Given the description of an element on the screen output the (x, y) to click on. 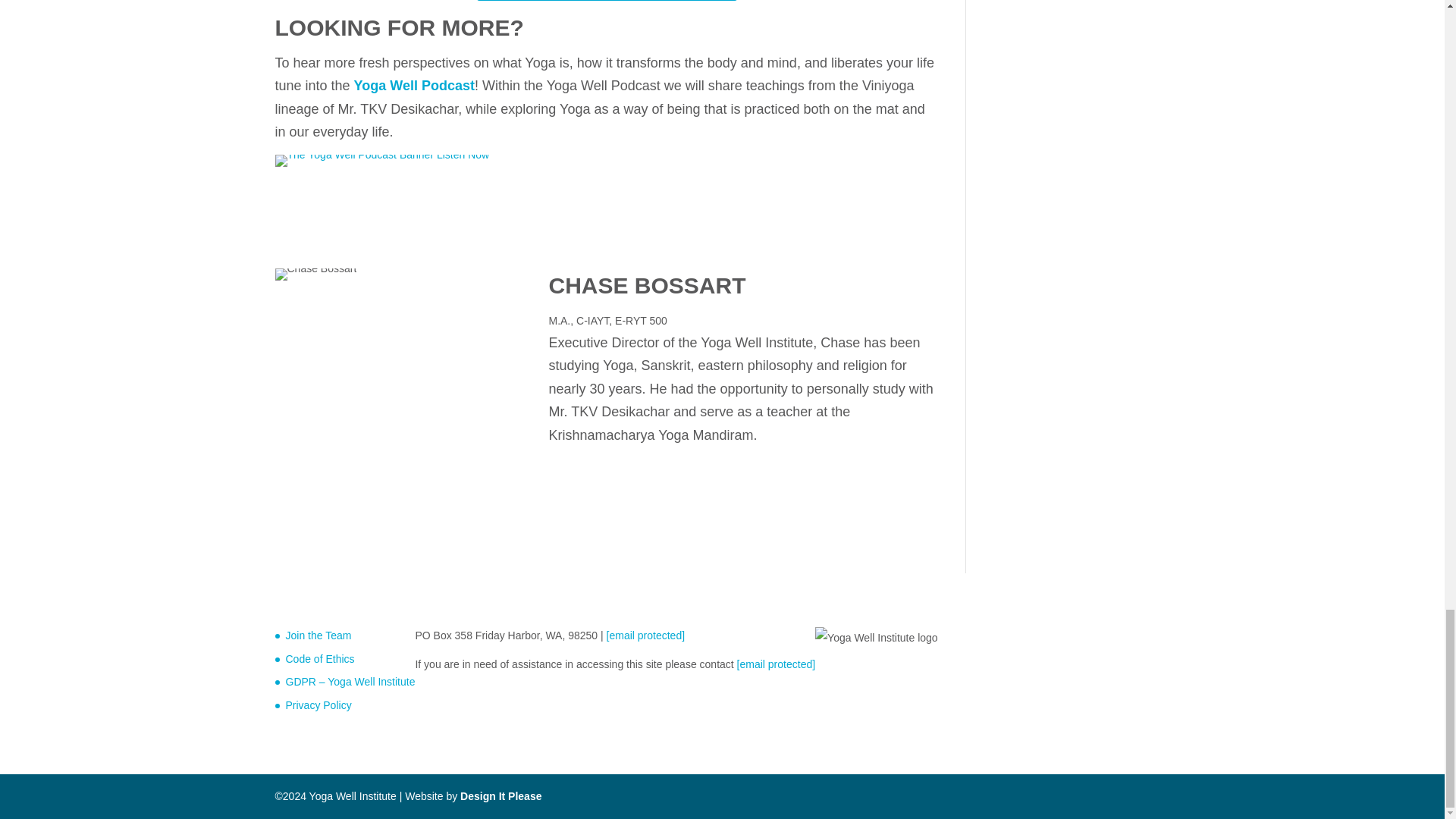
Yoga Well Podcast (382, 160)
Chase Bossart (315, 274)
Join the Team (317, 635)
Code of Ethics (319, 658)
Follow on Spotify (562, 188)
Yoga Well Podcast (413, 85)
Follow on Amazon (661, 188)
Follow on iTunes (595, 188)
Privacy Policy (317, 705)
